Given the description of an element on the screen output the (x, y) to click on. 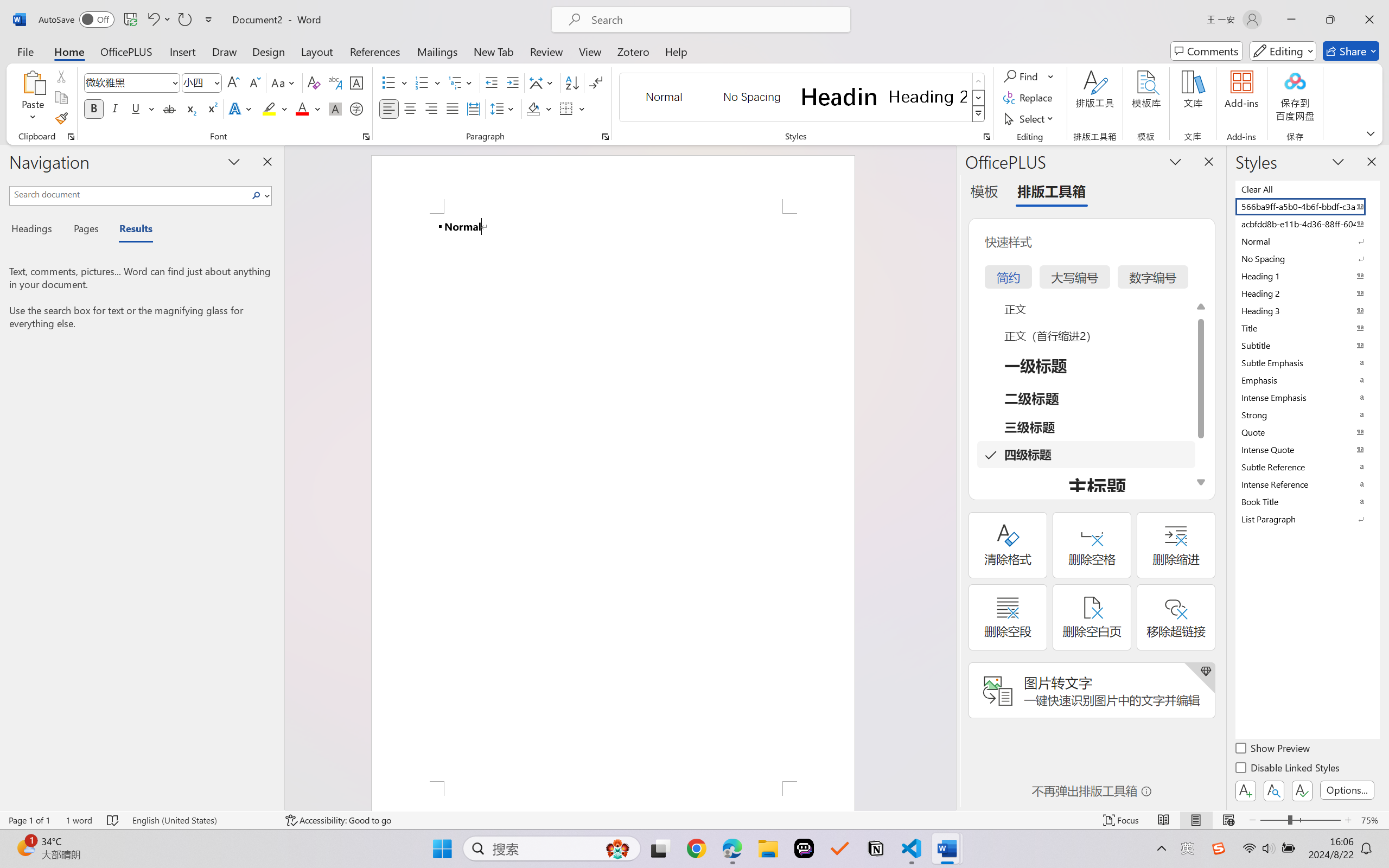
Zoom (1300, 819)
Microsoft search (715, 19)
Quote (1306, 431)
Justify (452, 108)
List Paragraph (1306, 518)
Class: NetUIButton (1301, 790)
Search (256, 195)
Format Painter (60, 118)
Emphasis (1306, 379)
Shading (539, 108)
Row Down (978, 97)
Subtitle (1306, 345)
